Given the description of an element on the screen output the (x, y) to click on. 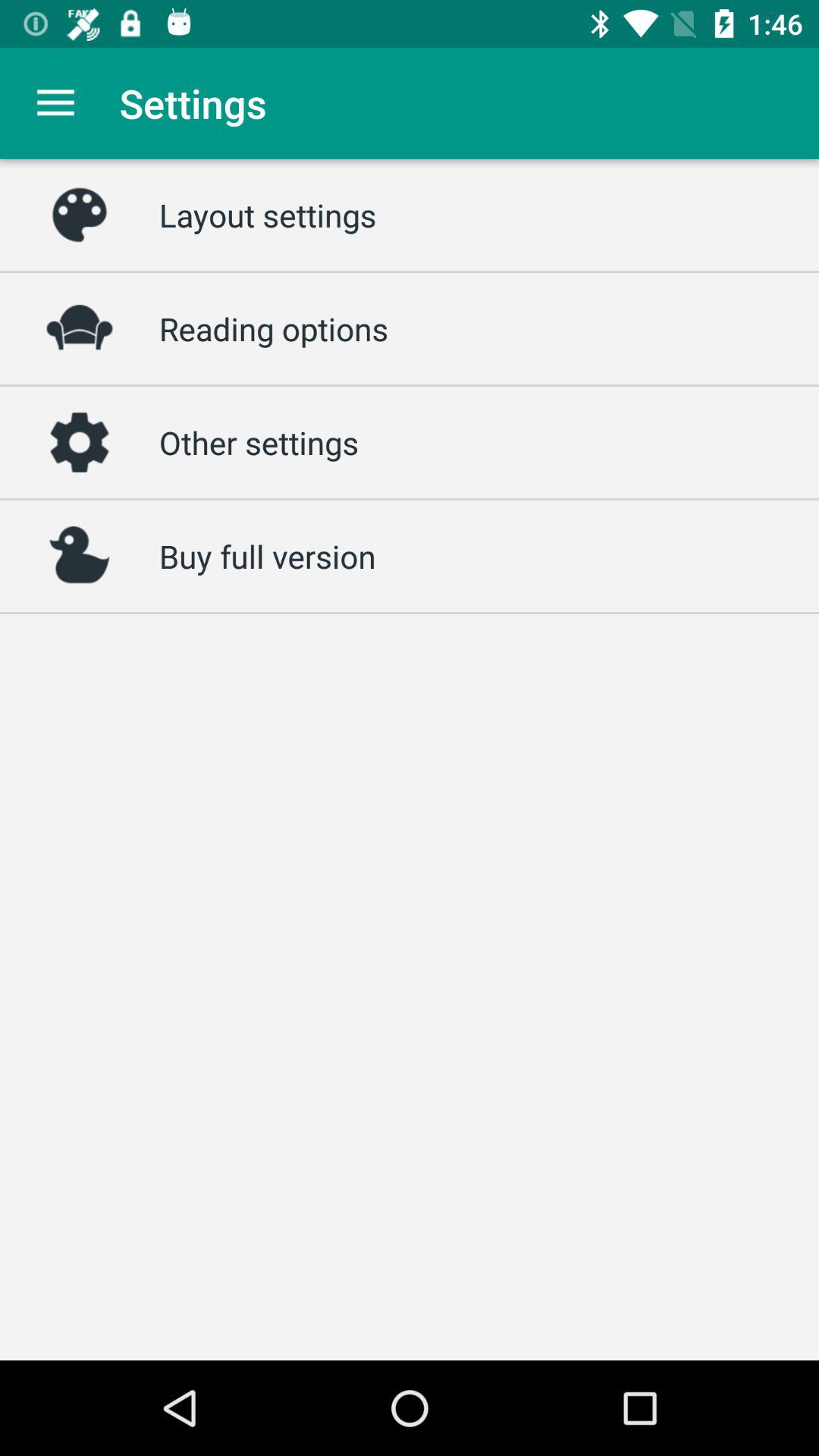
choose the item below the layout settings (273, 328)
